Given the description of an element on the screen output the (x, y) to click on. 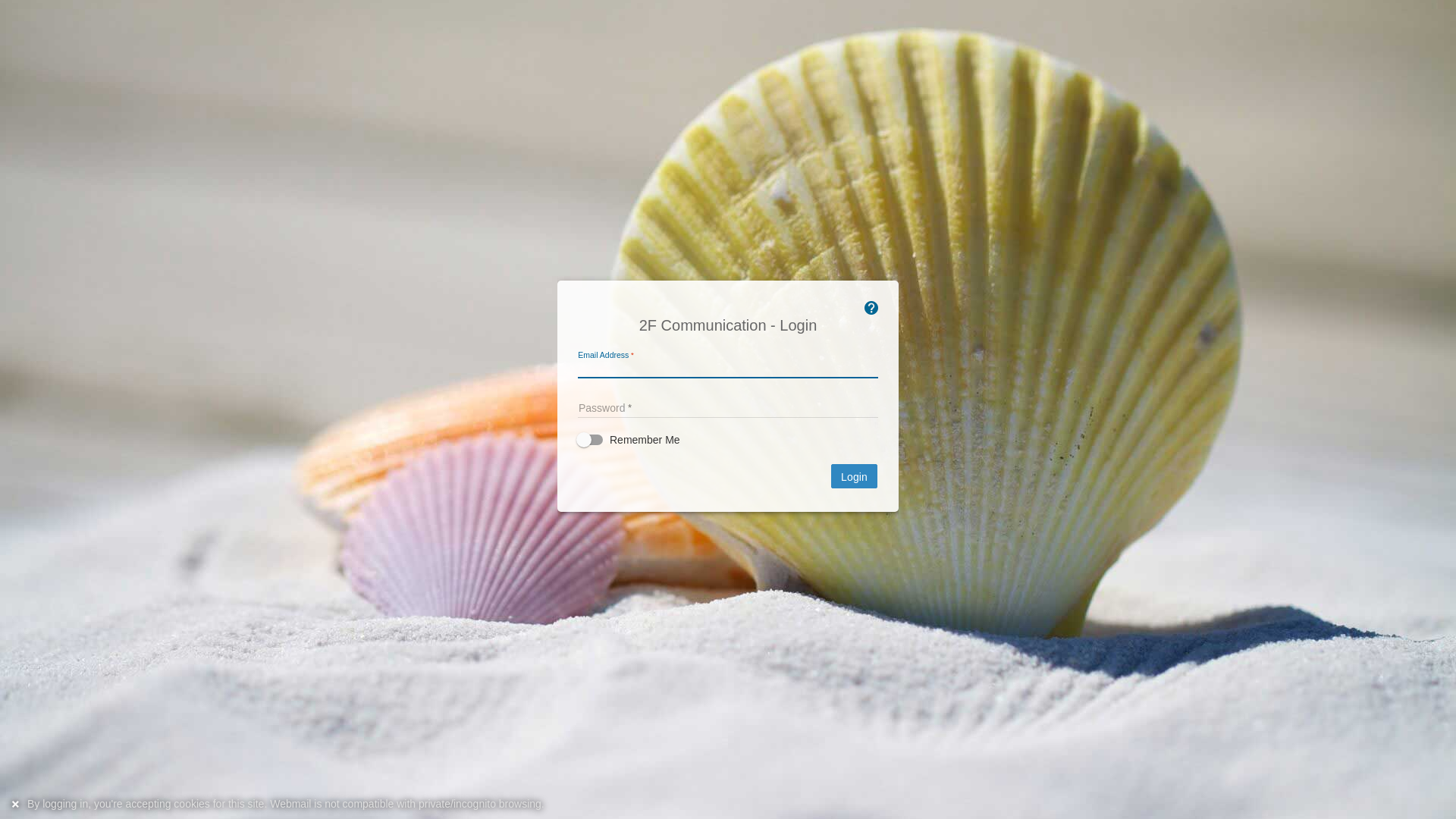
Login Element type: text (854, 476)
